Given the description of an element on the screen output the (x, y) to click on. 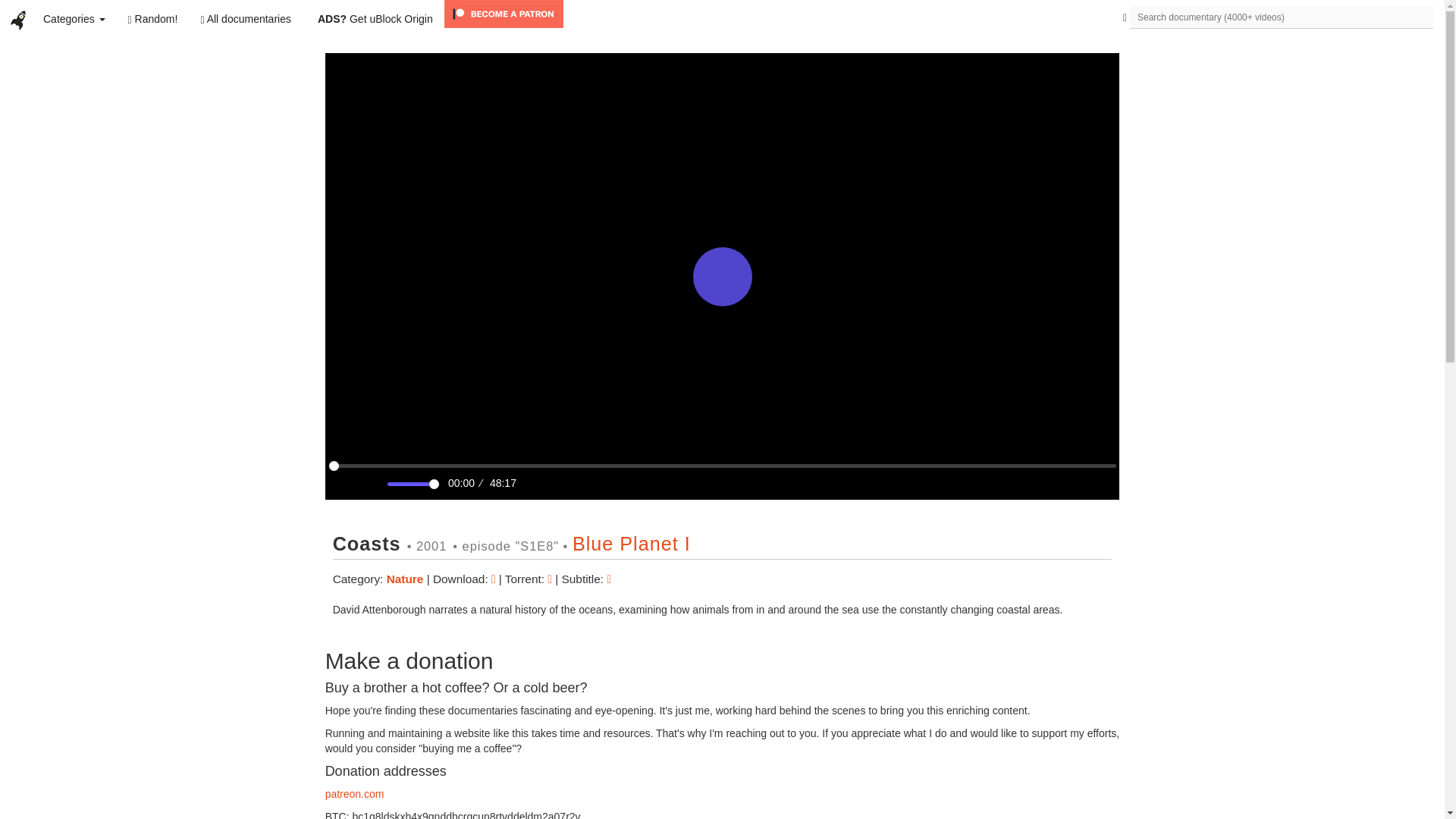
Blue Planet I (631, 543)
Random! (152, 18)
All documentaries (245, 18)
Categories (74, 18)
ADS? Get uBlock Origin (374, 18)
Blue Planet I (631, 543)
patreon.com (354, 793)
Nature (406, 578)
